Given the description of an element on the screen output the (x, y) to click on. 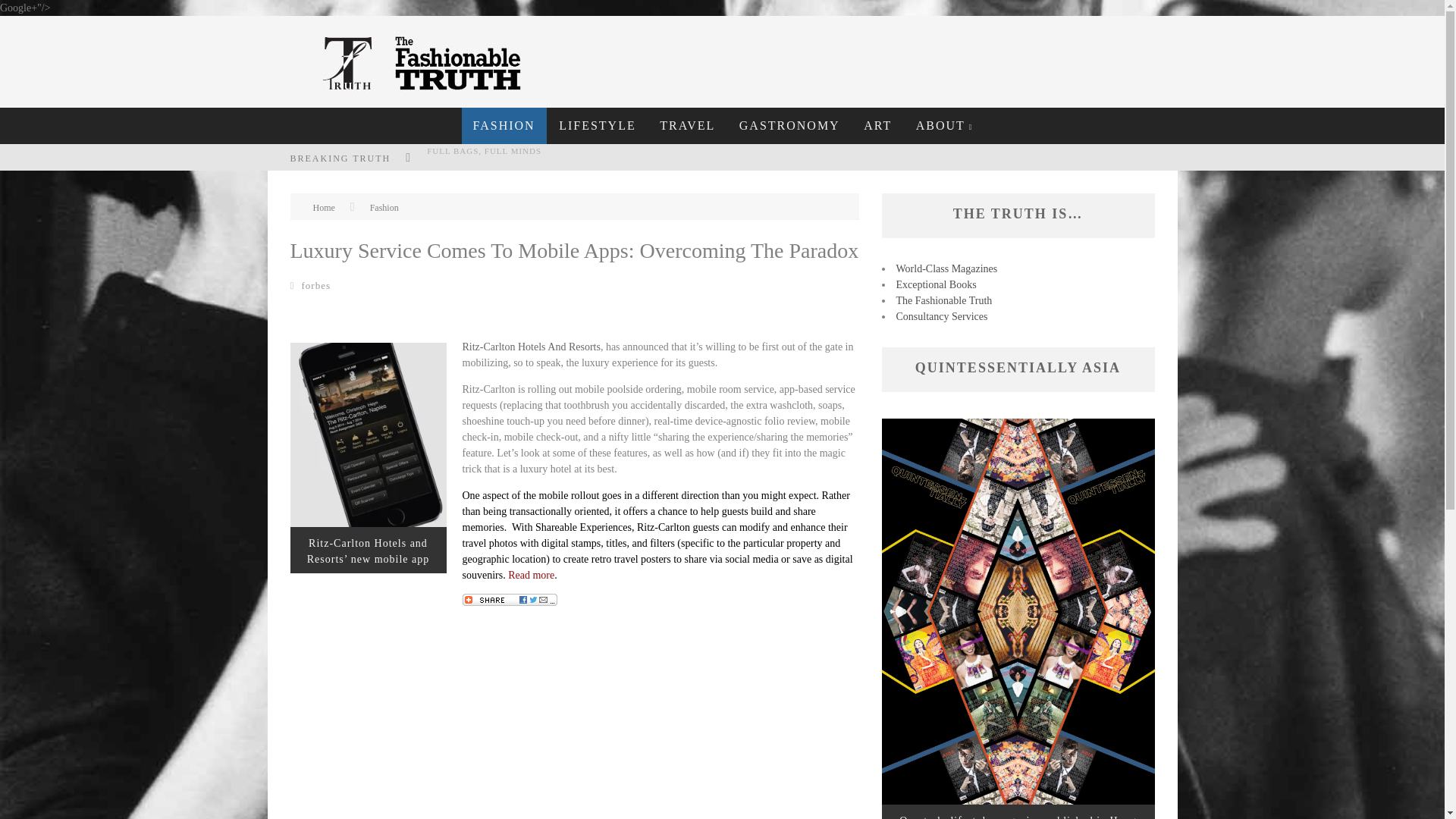
Posts by forbes (316, 285)
View all posts in Fashion (383, 207)
FASHION (504, 125)
Look FULL BAGS, FULL MINDS (483, 150)
TRAVEL (686, 125)
LIFESTYLE (597, 125)
